Given the description of an element on the screen output the (x, y) to click on. 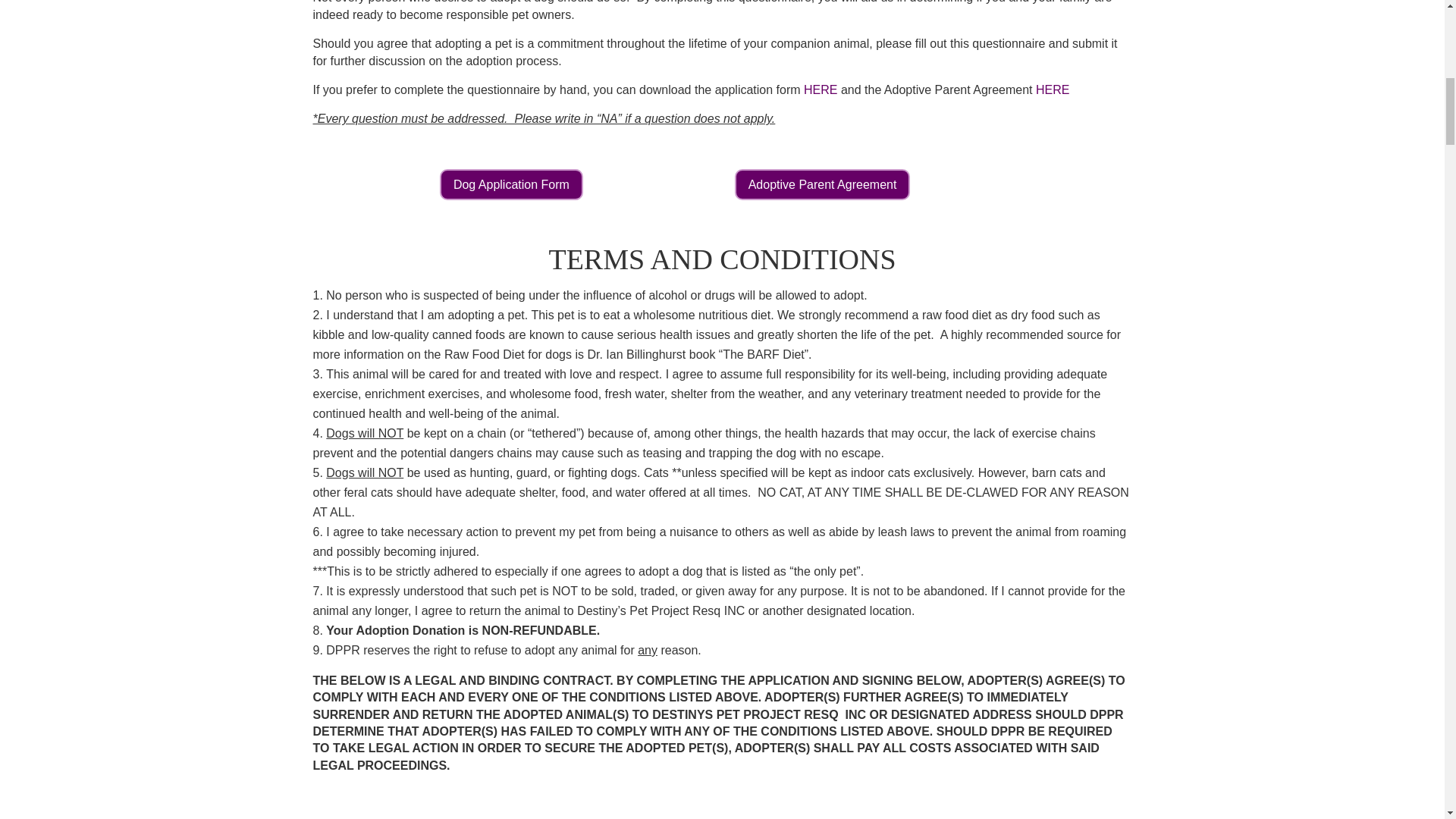
Adoptive Parent Agreement (823, 183)
HERE (820, 89)
Adoptive Parent Agreement (1051, 89)
Dog Application Form (511, 183)
HERE (1051, 89)
Dog Adoption Application Form (820, 89)
